Given the description of an element on the screen output the (x, y) to click on. 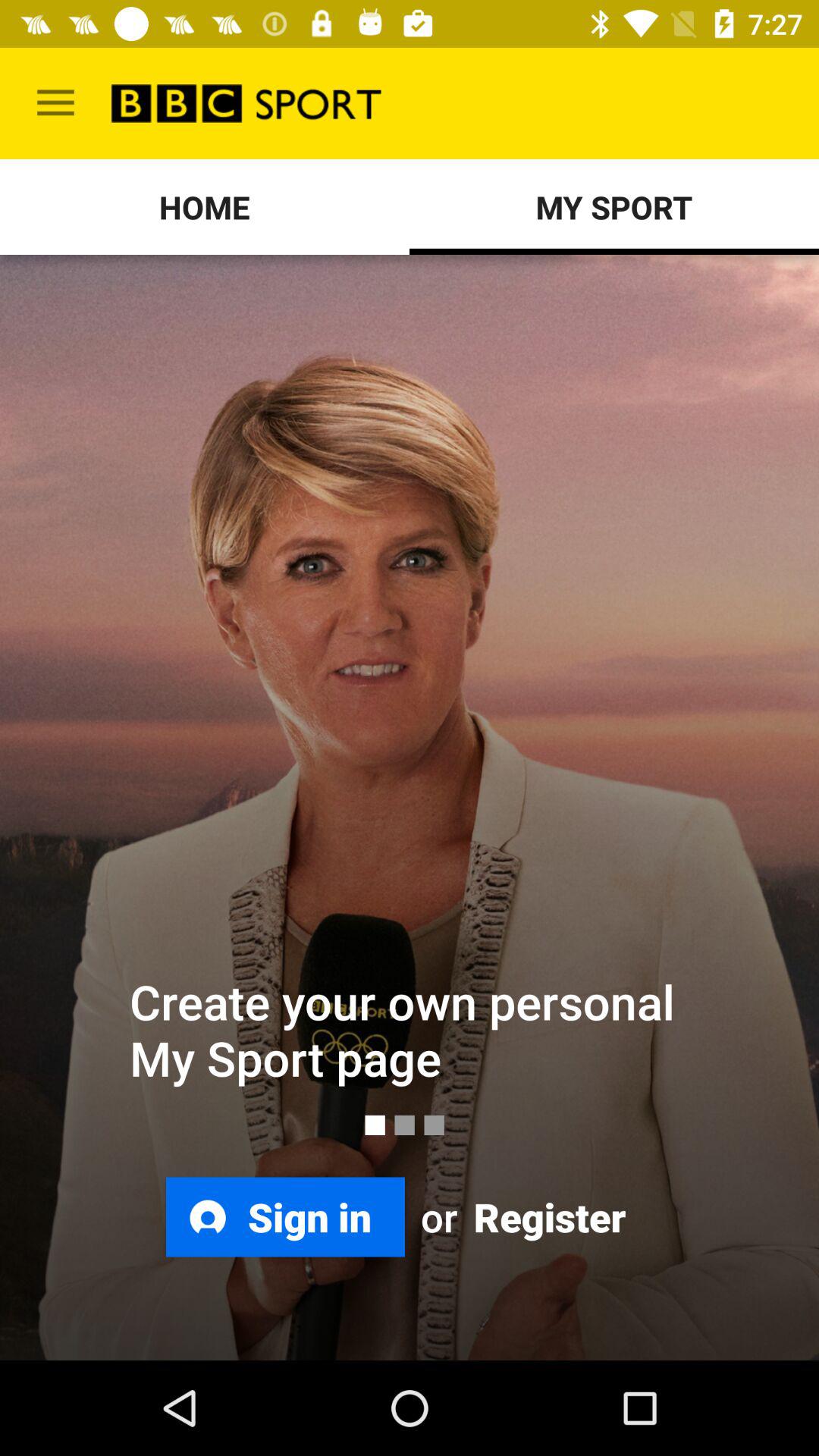
turn off the icon at the bottom right corner (547, 1216)
